Given the description of an element on the screen output the (x, y) to click on. 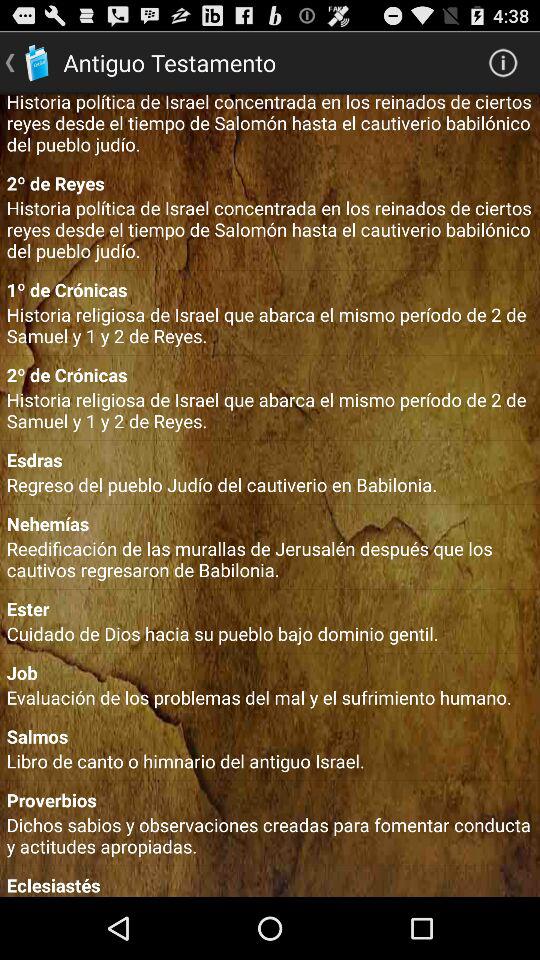
swipe to salmos icon (269, 736)
